Given the description of an element on the screen output the (x, y) to click on. 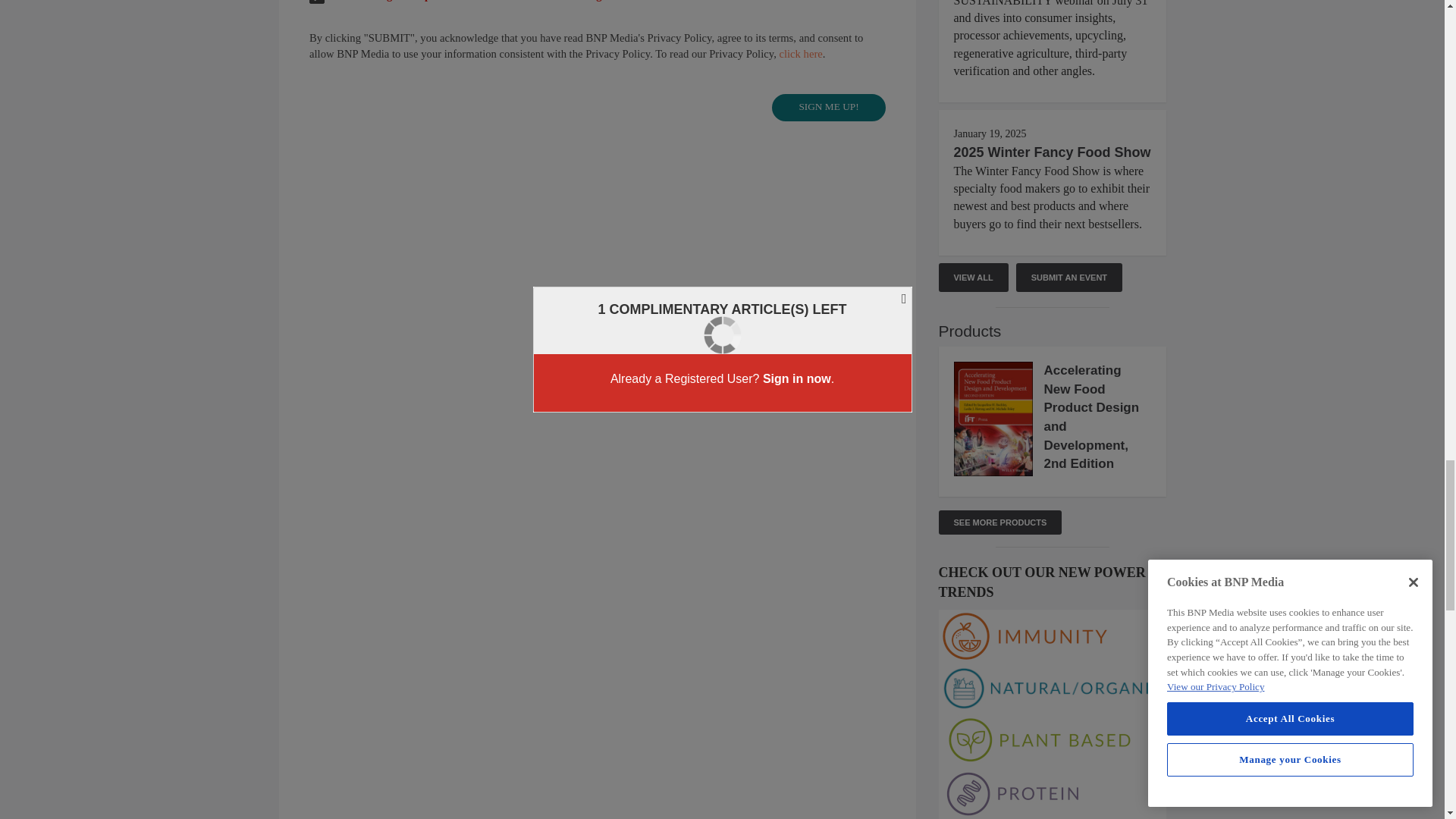
2025 Winter Fancy Food Show (1052, 151)
Interaction questions (597, 79)
